Given the description of an element on the screen output the (x, y) to click on. 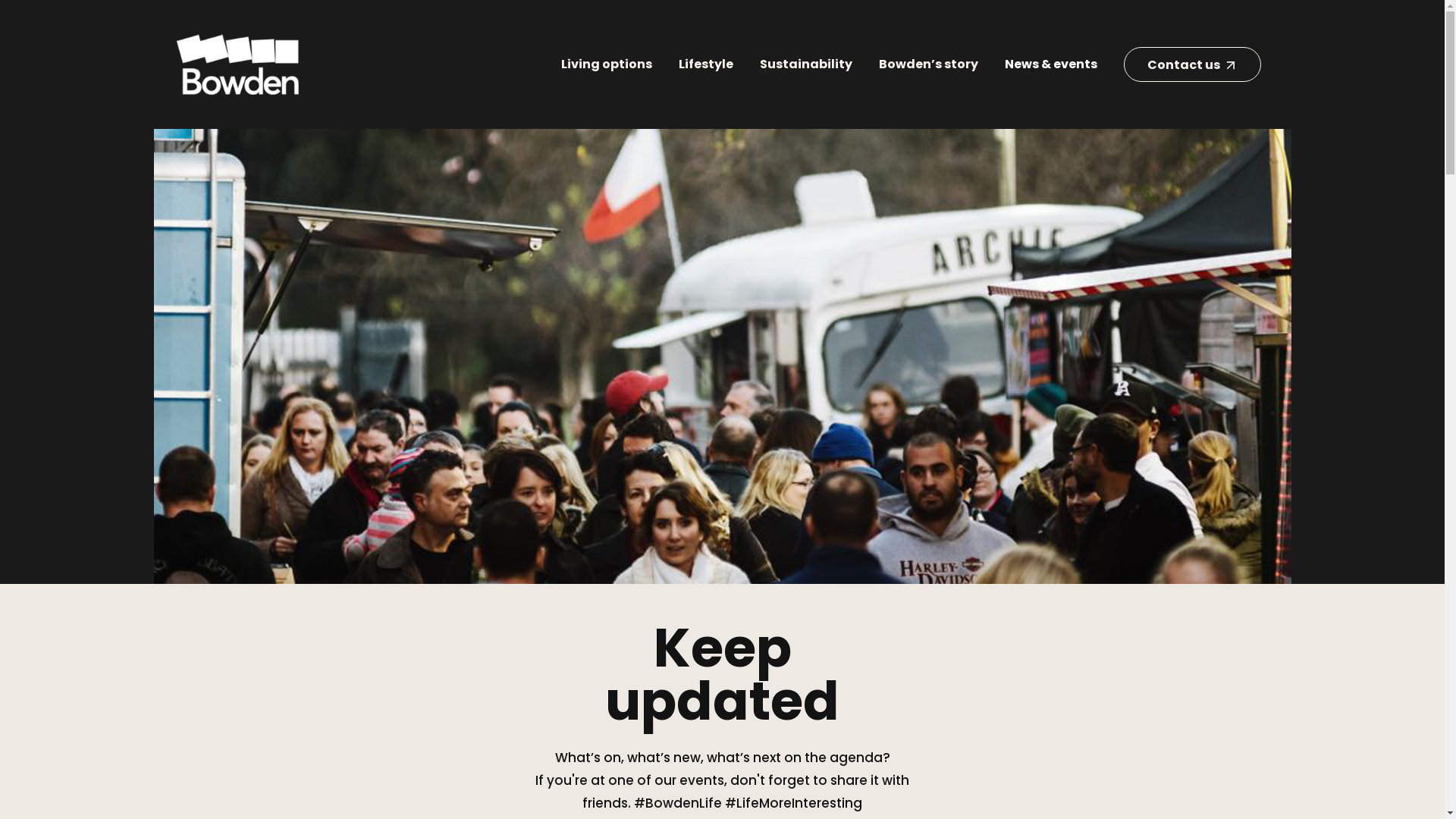
Sustainability Element type: text (805, 64)
Living options Element type: text (606, 64)
News & events Element type: text (1050, 64)
Lifestyle Element type: text (704, 64)
Contact us Element type: text (1191, 64)
